Given the description of an element on the screen output the (x, y) to click on. 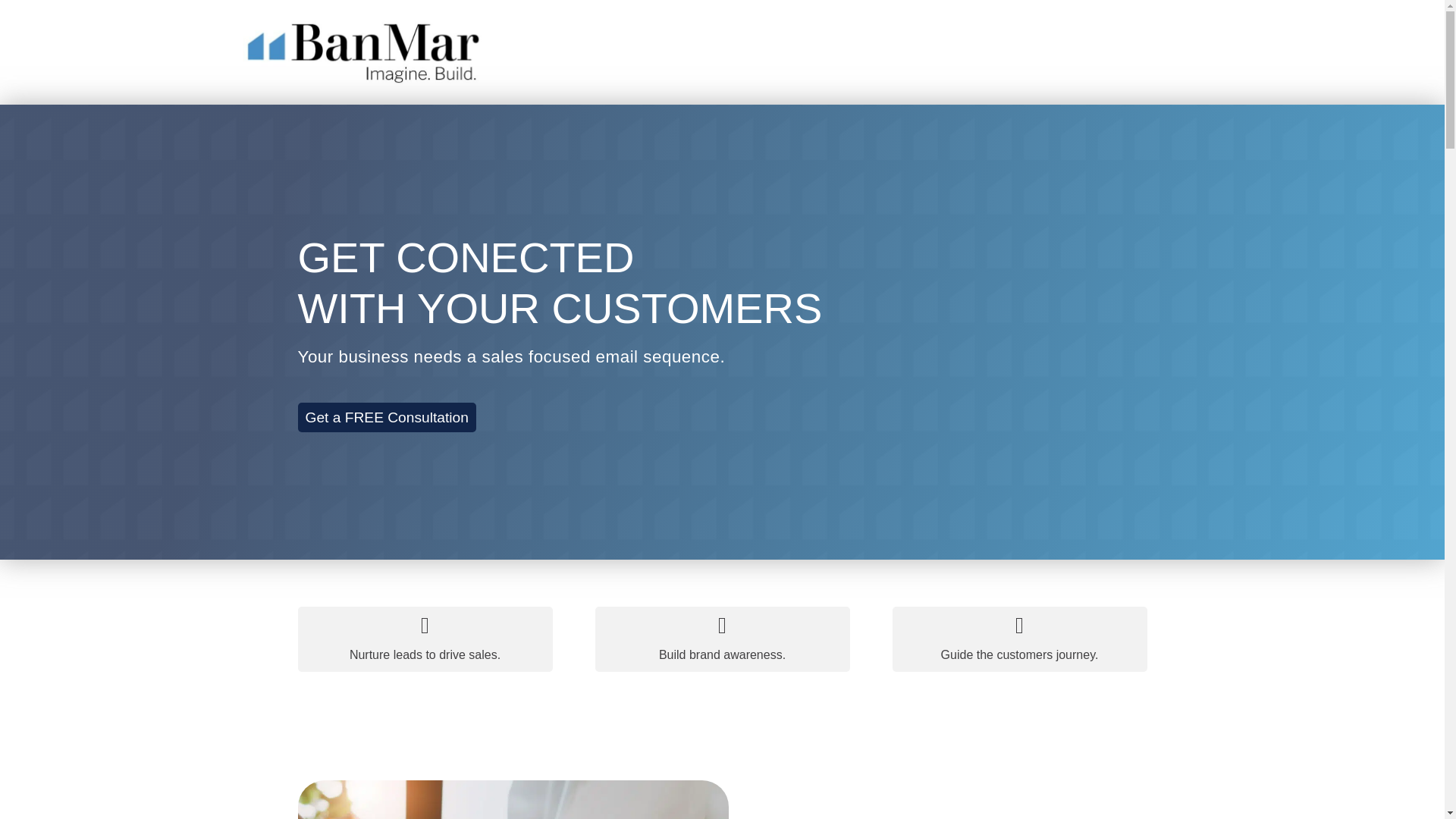
Get a FREE Consultation (386, 417)
